Given the description of an element on the screen output the (x, y) to click on. 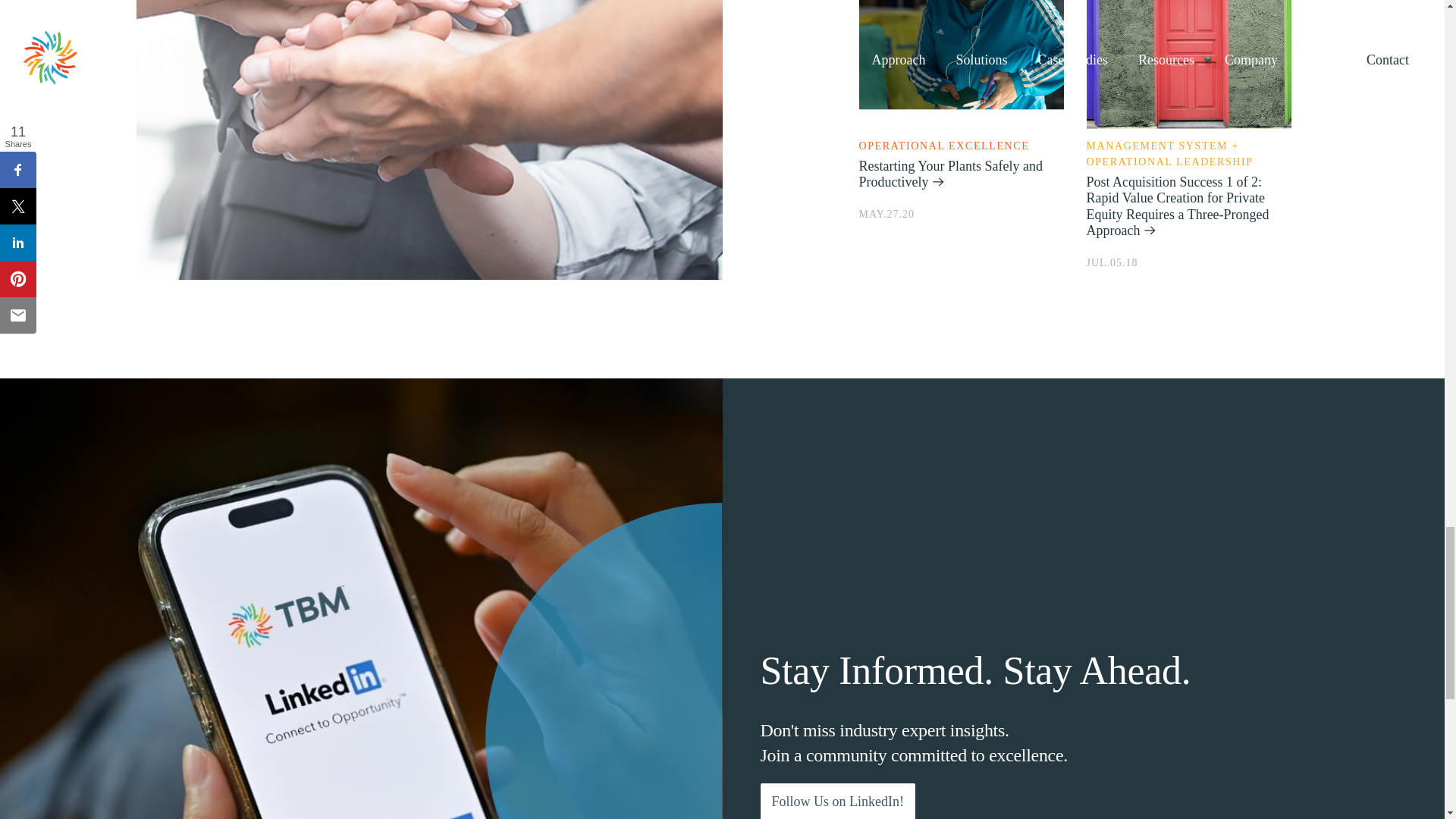
Follow Us on LinkedIn! (837, 800)
